Given the description of an element on the screen output the (x, y) to click on. 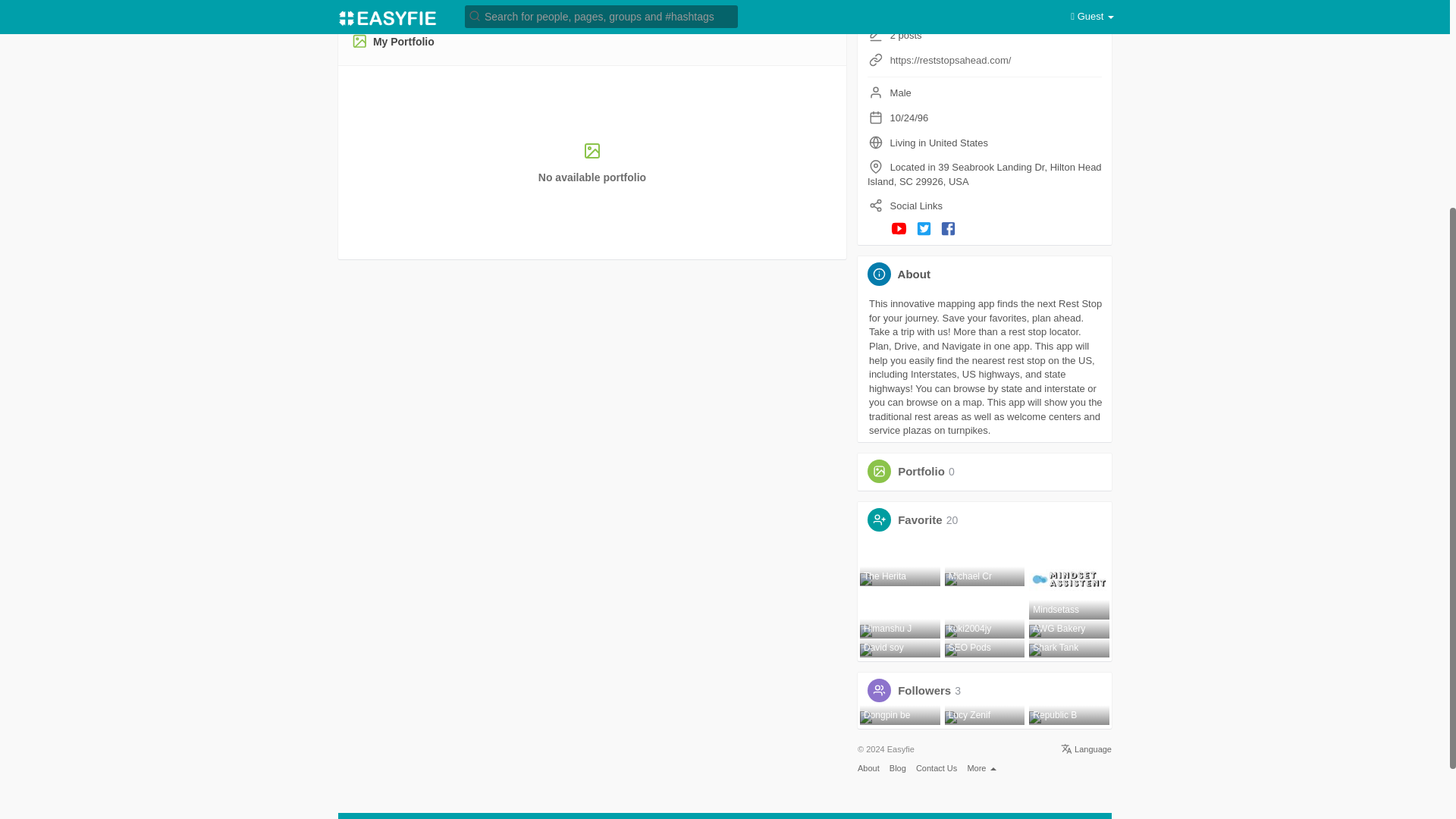
Republic B (1069, 717)
Michael Cr (984, 578)
Dongpin be (900, 717)
David soy (900, 649)
kuki2004jy (984, 630)
Portfolio (921, 471)
SEO Pods (984, 649)
Blog (897, 768)
The Herita (900, 578)
Followers (806, 2)
